Given the description of an element on the screen output the (x, y) to click on. 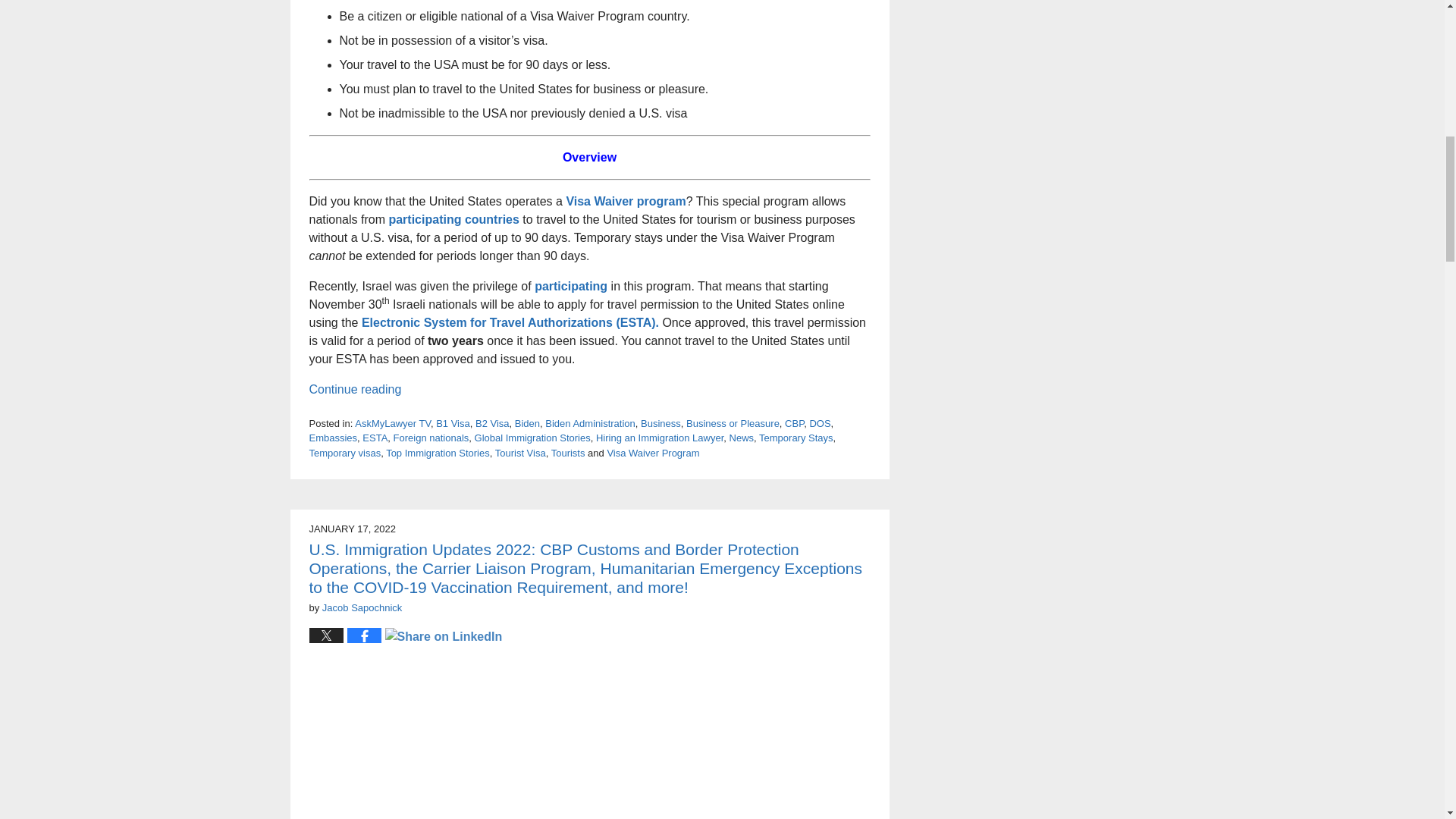
Tourist Visa (520, 452)
News (741, 437)
View all posts in Business (660, 423)
Hiring an Immigration Lawyer (659, 437)
View all posts in DOS (819, 423)
View all posts in B1 Visa (452, 423)
View all posts in Global Immigration Stories (532, 437)
Business or Pleasure (731, 423)
Biden Administration (589, 423)
View all posts in Biden Administration (589, 423)
